Given the description of an element on the screen output the (x, y) to click on. 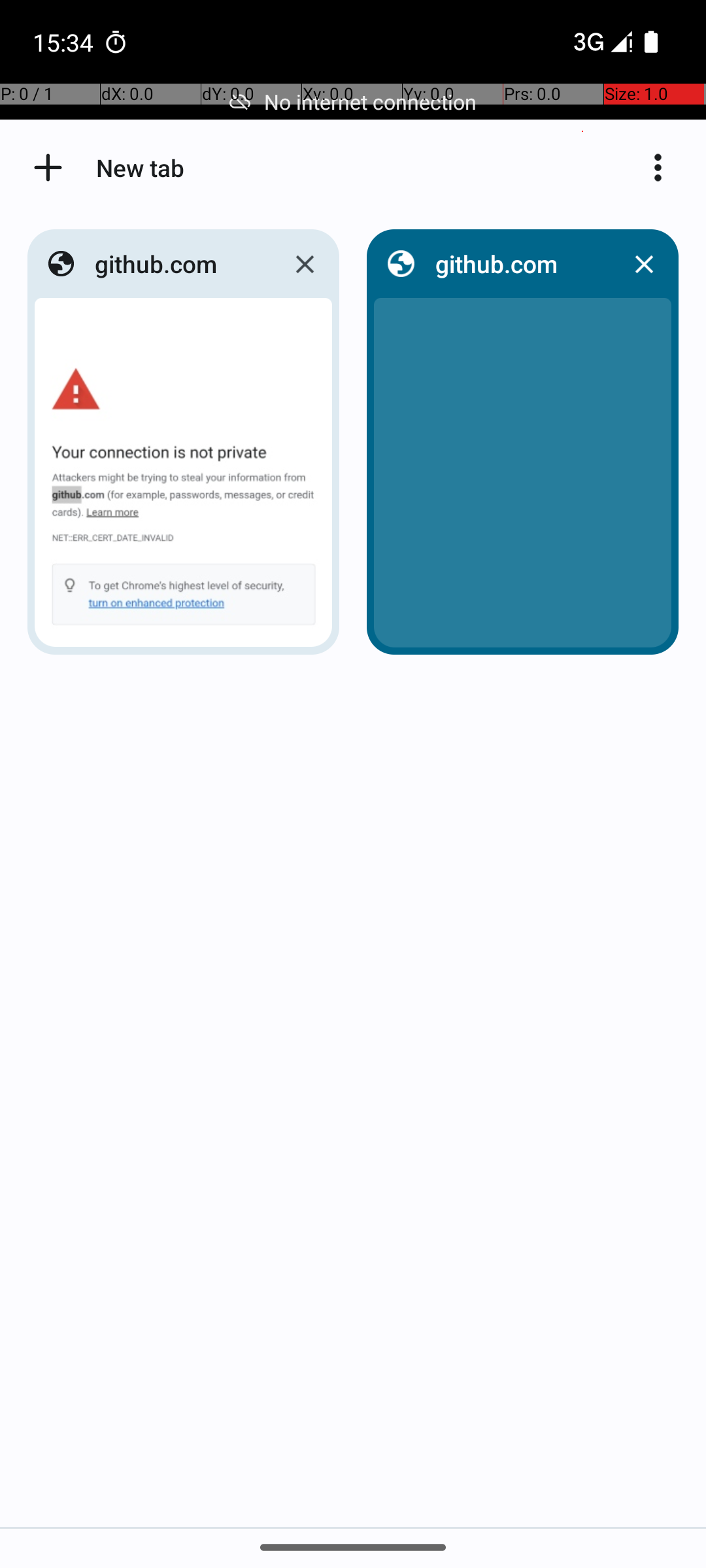
Close Privacy error tab Element type: android.widget.ImageView (304, 263)
